Given the description of an element on the screen output the (x, y) to click on. 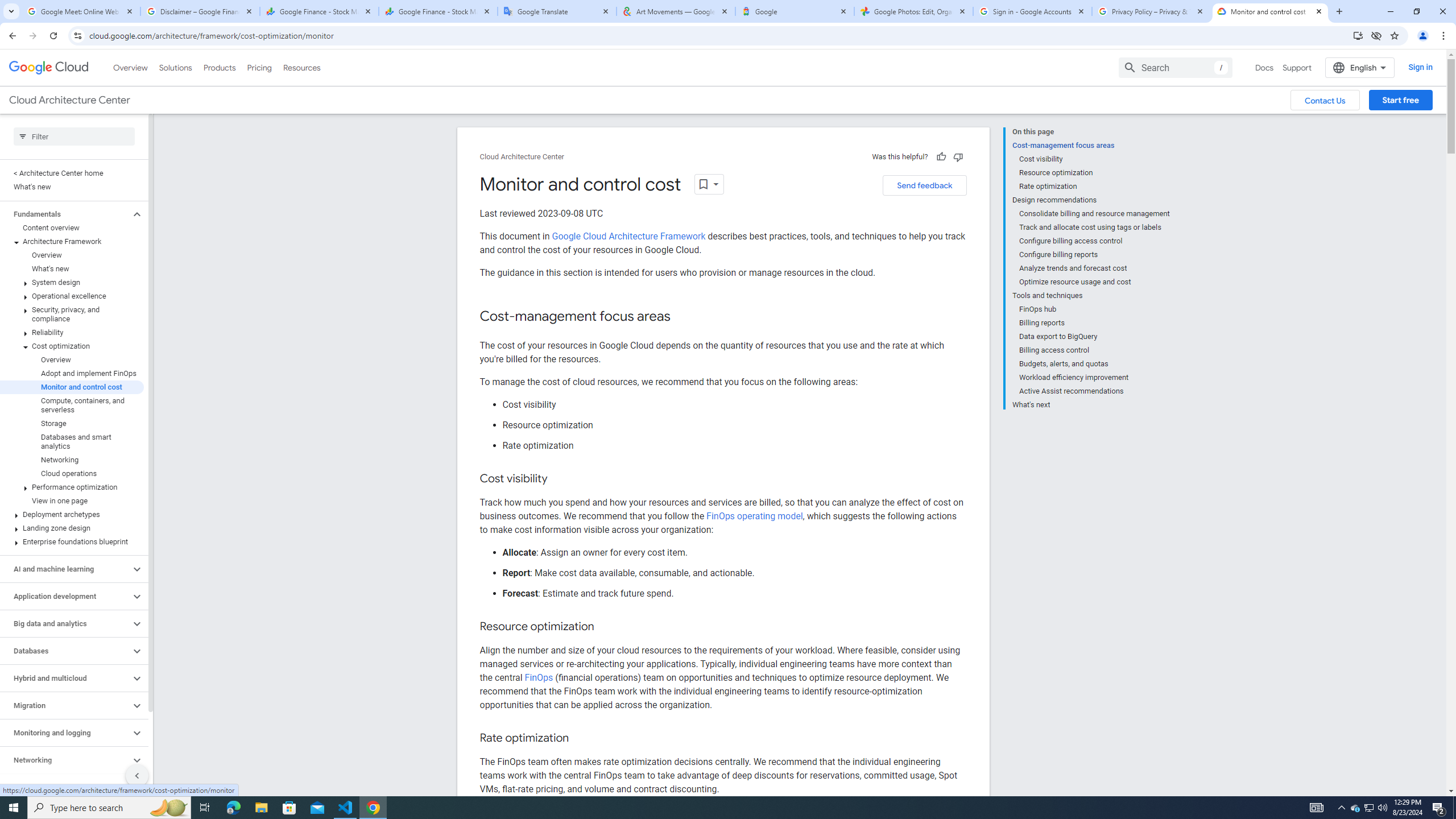
Billing reports (1094, 323)
Fundamentals (64, 214)
Sign in - Google Accounts (1032, 11)
Google Cloud (48, 67)
Configure billing reports (1094, 254)
Type to filter (74, 136)
FinOps operating model (754, 516)
Hybrid and multicloud (64, 678)
Optimize resource usage and cost (1094, 282)
Search (1174, 67)
Copy link to this section: Cost visibility (558, 478)
Deployment archetypes (72, 514)
